Given the description of an element on the screen output the (x, y) to click on. 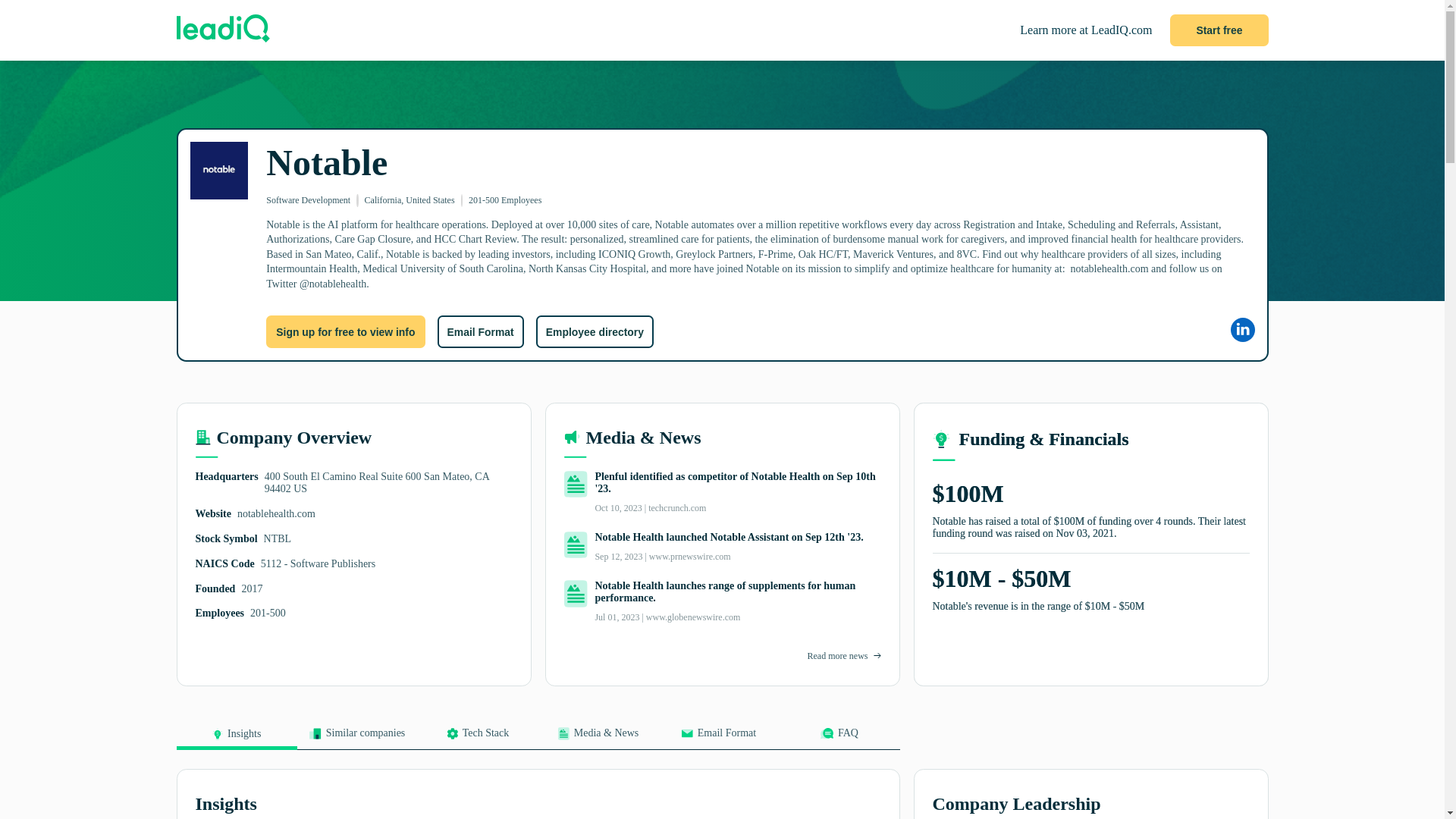
Read more news (837, 655)
Email Format (718, 737)
Sign up for free to view info (345, 331)
Employee directory (594, 331)
Tech Stack (476, 737)
Start free (1219, 29)
Email Format (479, 331)
FAQ (838, 737)
Similar companies (357, 737)
notablehealth.com (276, 513)
